Given the description of an element on the screen output the (x, y) to click on. 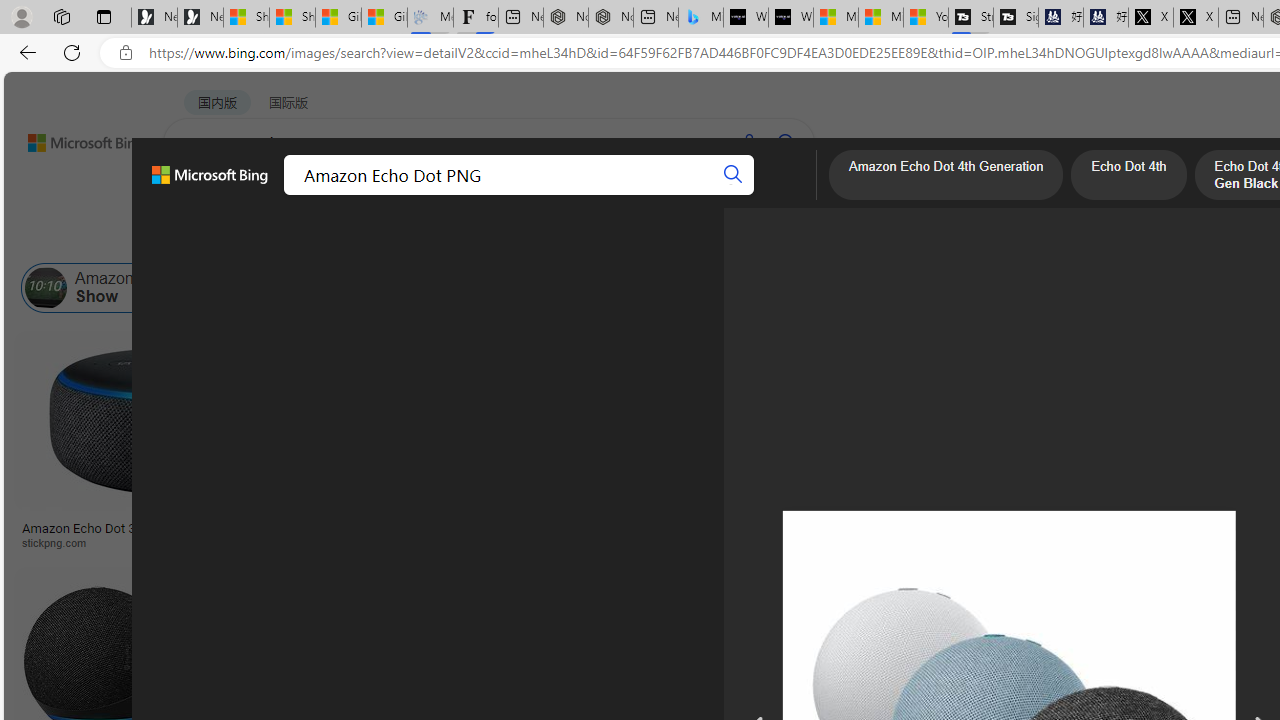
Date (591, 237)
Amazon Echo Dot with Clock (864, 287)
Amazon Echo Show (107, 287)
DICT (630, 195)
License (665, 237)
Amazon Echo Speaker (1199, 287)
People (520, 237)
Class: b_pri_nav_svg (336, 196)
VIDEOS (458, 195)
Amazon Alexa Echo (228, 287)
